Given the description of an element on the screen output the (x, y) to click on. 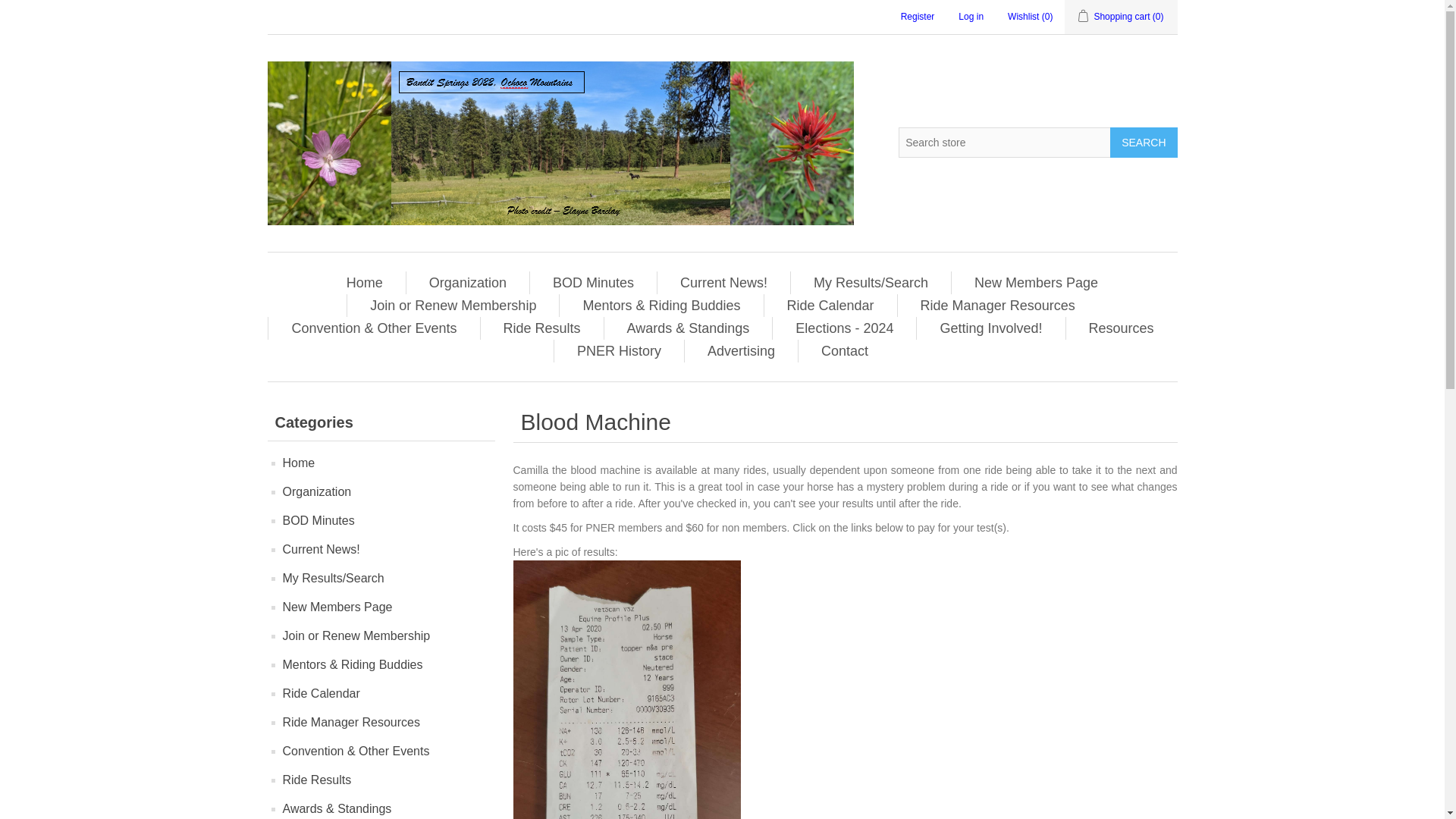
Organization (467, 282)
BOD Minutes (593, 282)
Ride Manager Resources (997, 305)
Search (1142, 142)
Ride Results (542, 327)
Register (917, 17)
Home (364, 282)
Search (1142, 142)
Current News! (723, 282)
Ride Calendar (830, 305)
